Given the description of an element on the screen output the (x, y) to click on. 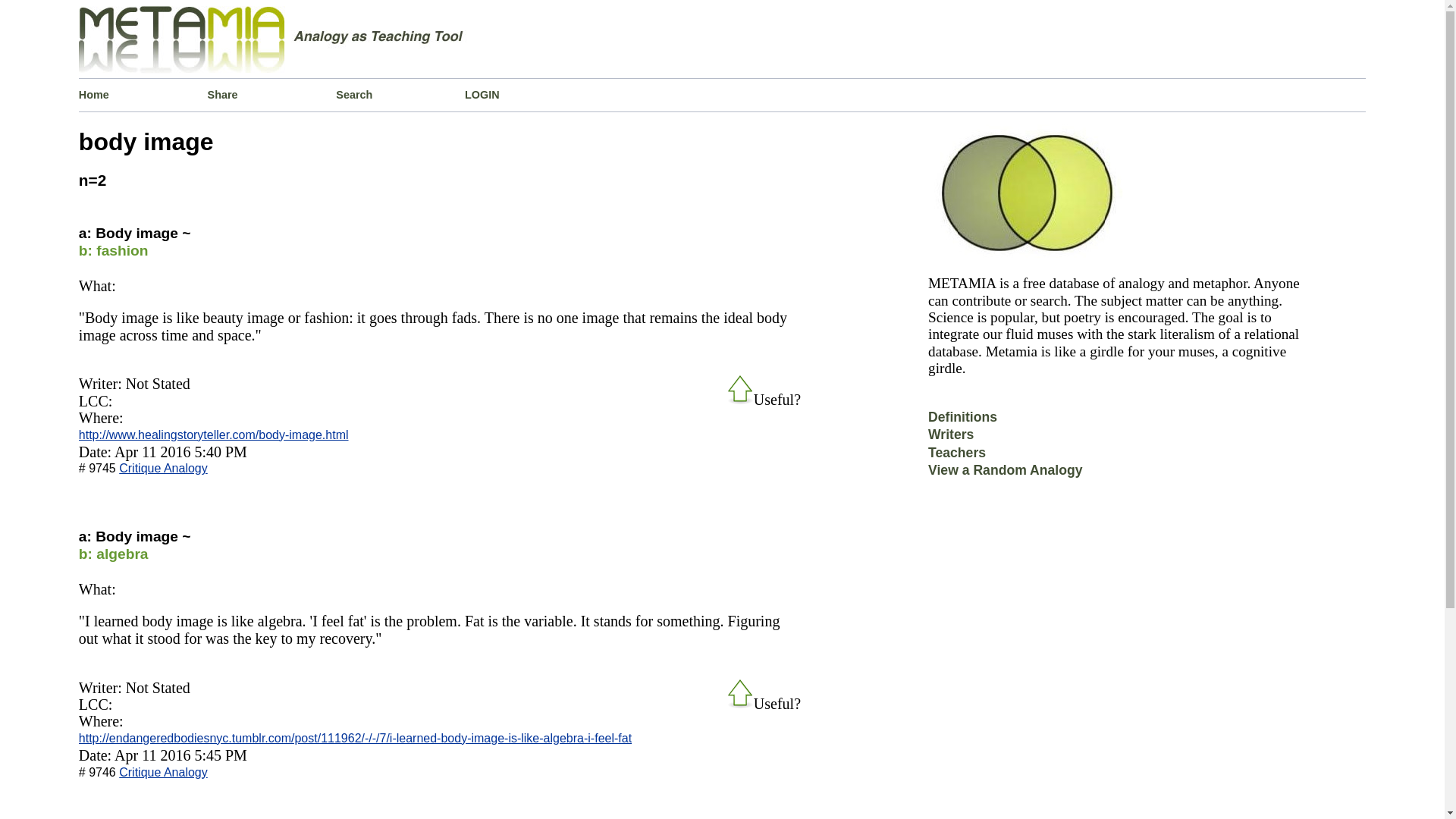
Share (272, 94)
Definitions (962, 422)
View a Random Analogy (1004, 475)
Teachers (956, 458)
Critique Analogy (163, 771)
Home (143, 94)
LOGIN (529, 94)
Critique Analogy (163, 468)
Writers (951, 439)
Search (400, 94)
